Given the description of an element on the screen output the (x, y) to click on. 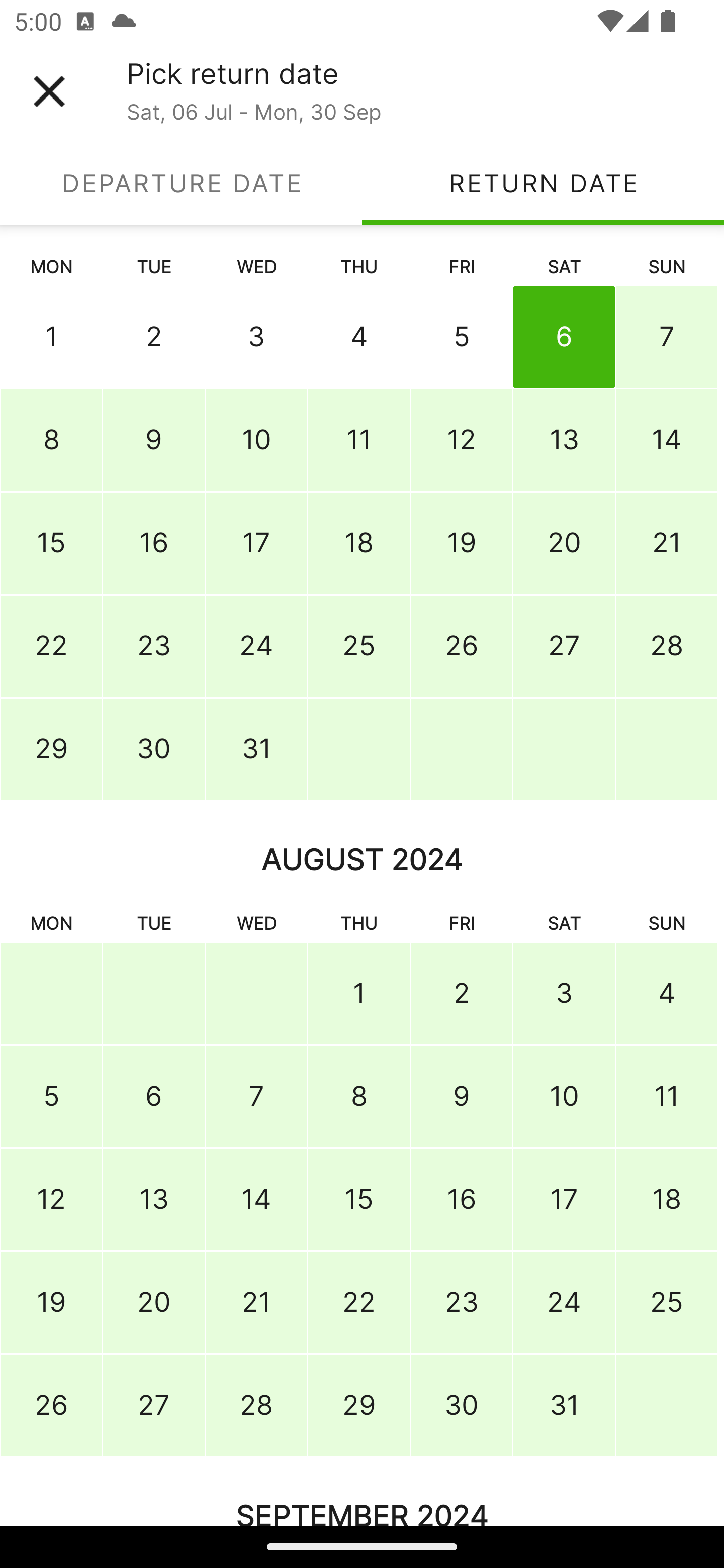
Departure Date DEPARTURE DATE (181, 183)
